Given the description of an element on the screen output the (x, y) to click on. 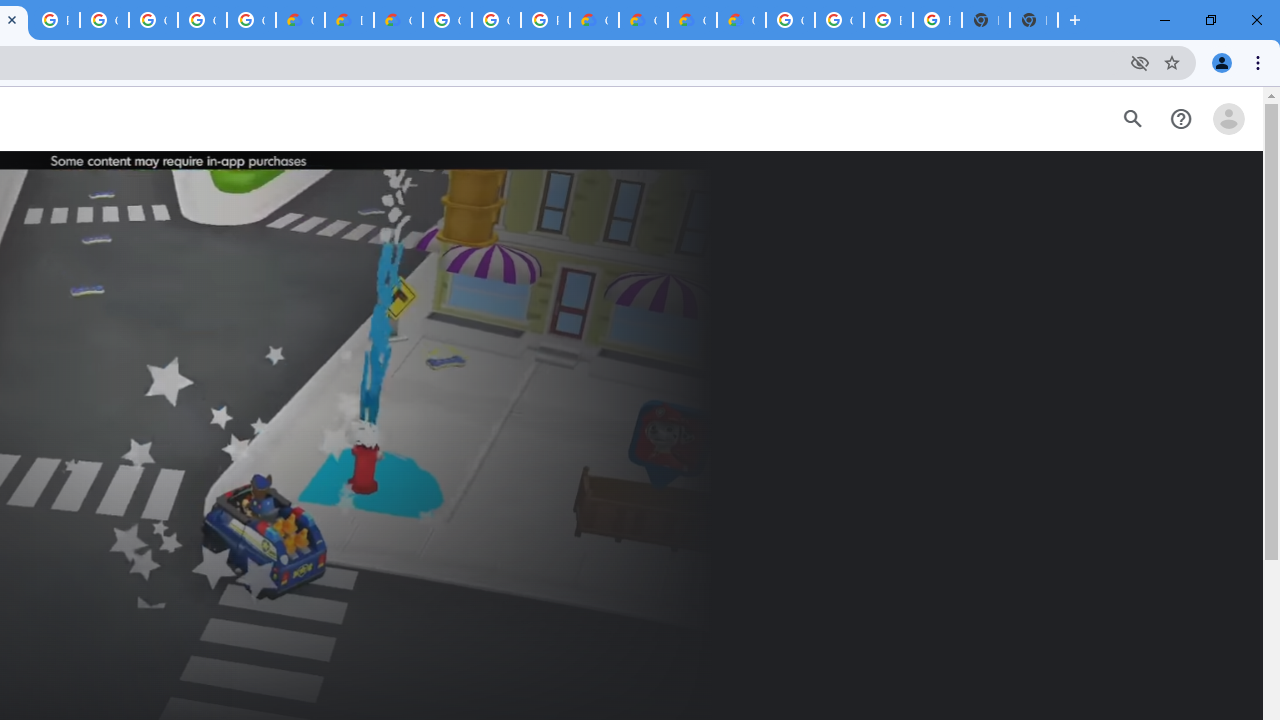
Google Cloud Platform (839, 20)
Google Cloud Service Health (740, 20)
Open account menu (1228, 119)
Google Cloud Pricing Calculator (692, 20)
Customer Care | Google Cloud (594, 20)
Customer Care | Google Cloud (300, 20)
Google Cloud Platform (496, 20)
